Given the description of an element on the screen output the (x, y) to click on. 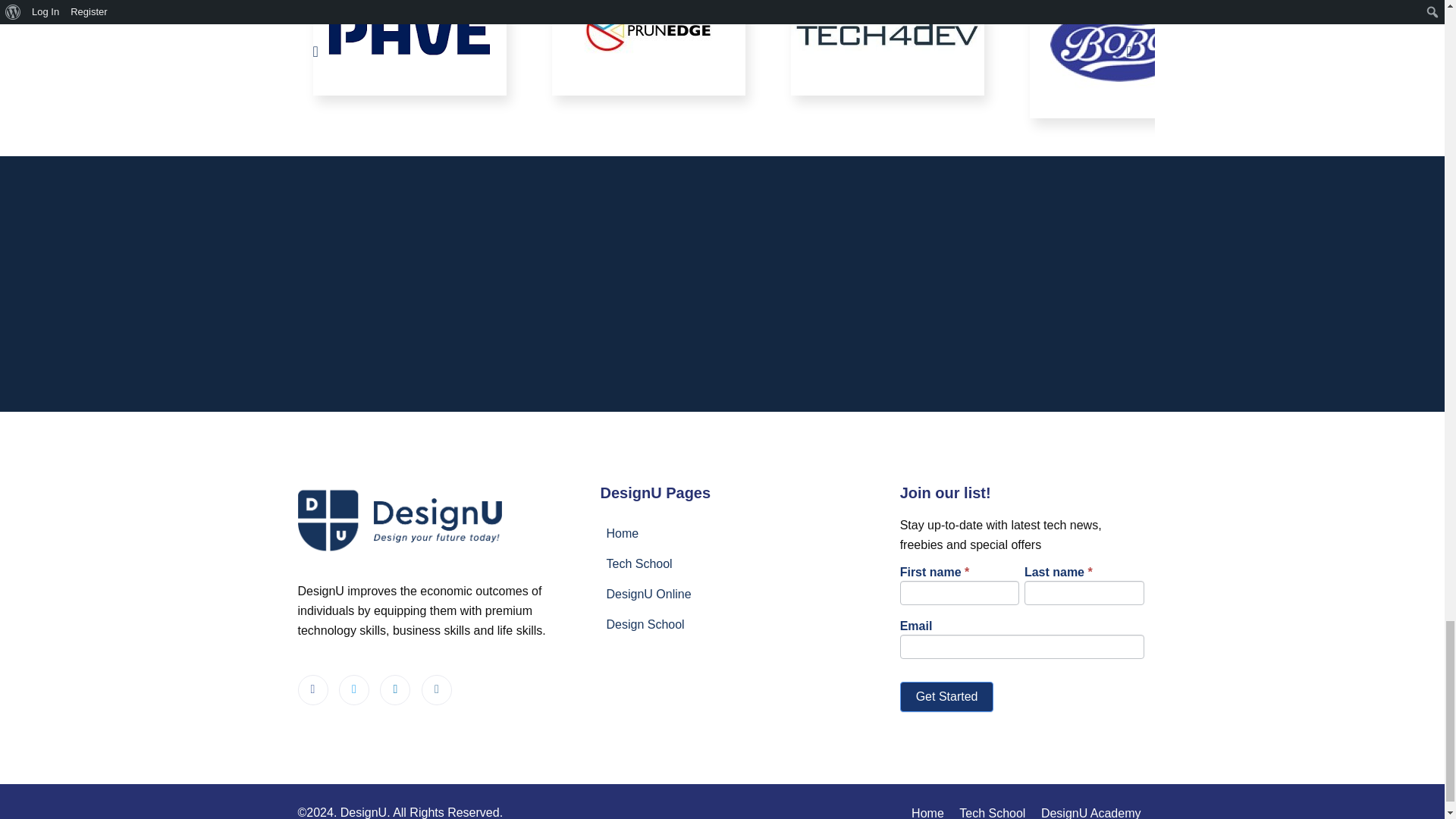
Home 5 (1125, 58)
Prunedge (648, 47)
Bobo Foods (1126, 58)
Home 4 (887, 31)
Pave (409, 47)
Tech4Dev (887, 47)
Home 2 (408, 37)
Home 3 (647, 30)
